Given the description of an element on the screen output the (x, y) to click on. 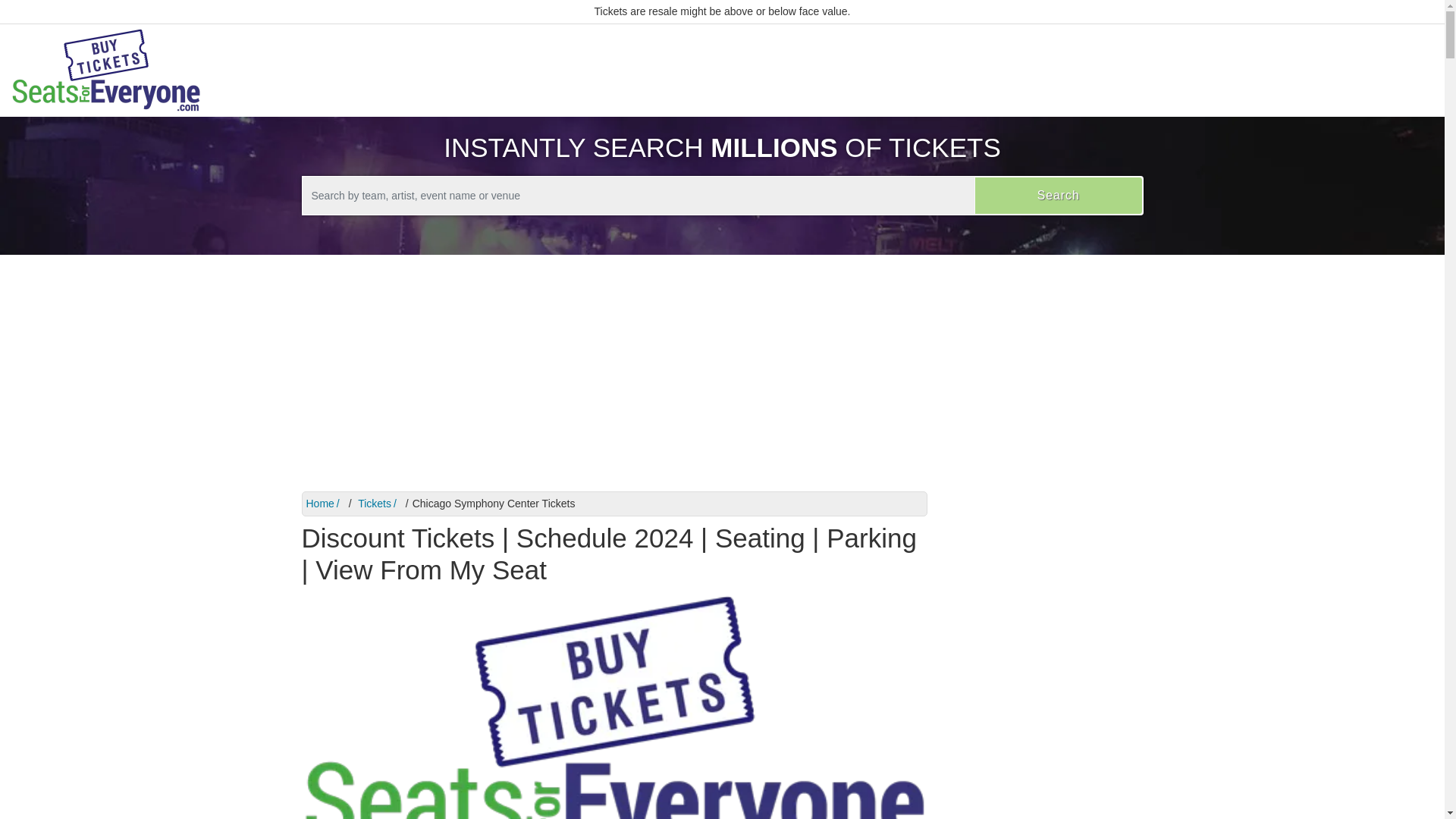
Tickets (377, 503)
Advertisement (1045, 658)
Home (324, 503)
Search (1058, 195)
Home (324, 503)
 Tickets (377, 503)
